Given the description of an element on the screen output the (x, y) to click on. 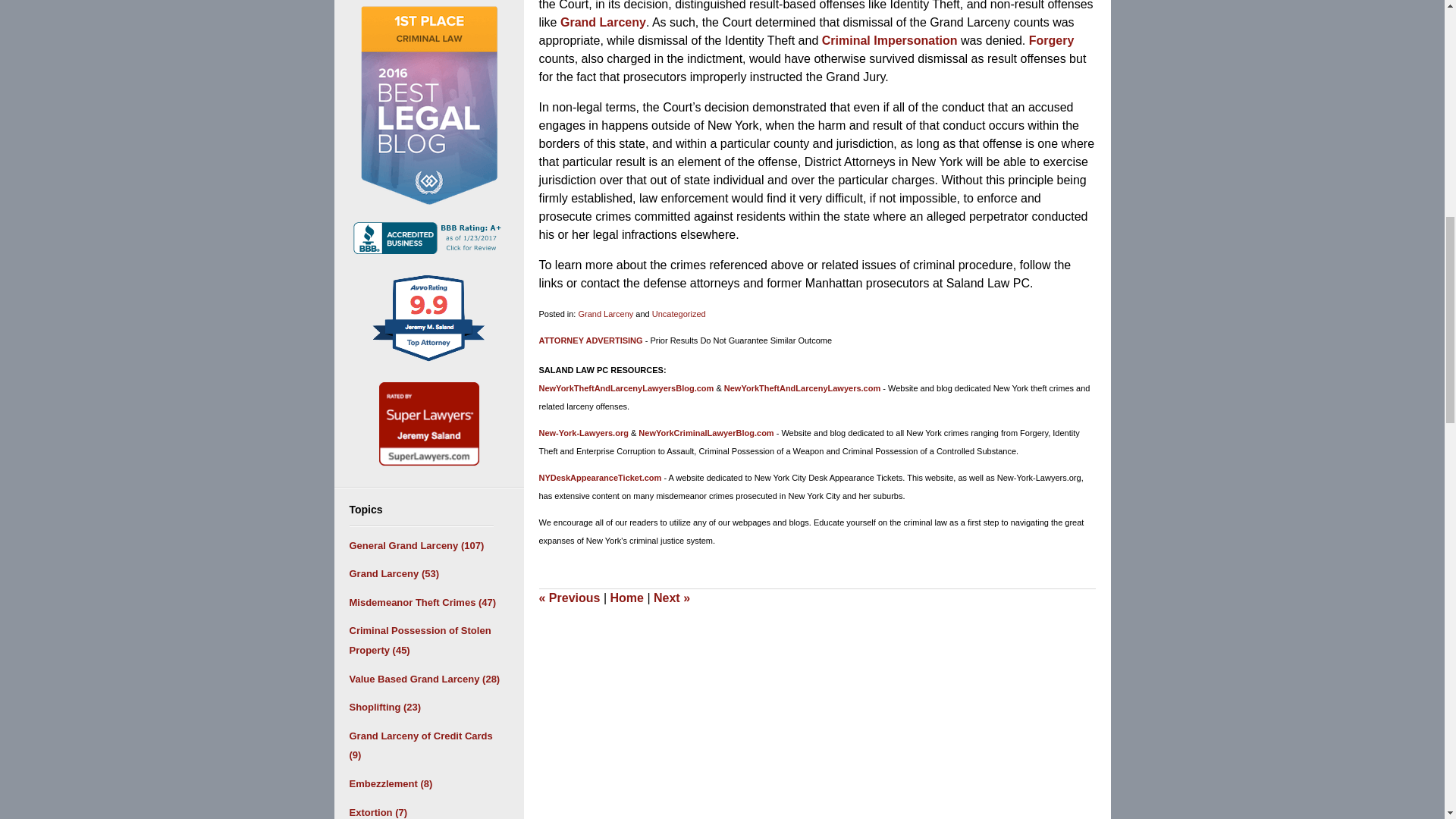
Criminal Impersonation (890, 40)
NYDeskAppearanceTicket.com (599, 477)
View all posts in Grand Larceny (605, 313)
Uncategorized (679, 313)
Grand Larceny (605, 313)
NewYorkTheftAndLarcenyLawyersBlog.com (625, 388)
Forgery (1051, 40)
Grand Larceny (603, 21)
View all posts in Uncategorized (679, 313)
NewYorkCriminalLawyerBlog.com (706, 432)
